Given the description of an element on the screen output the (x, y) to click on. 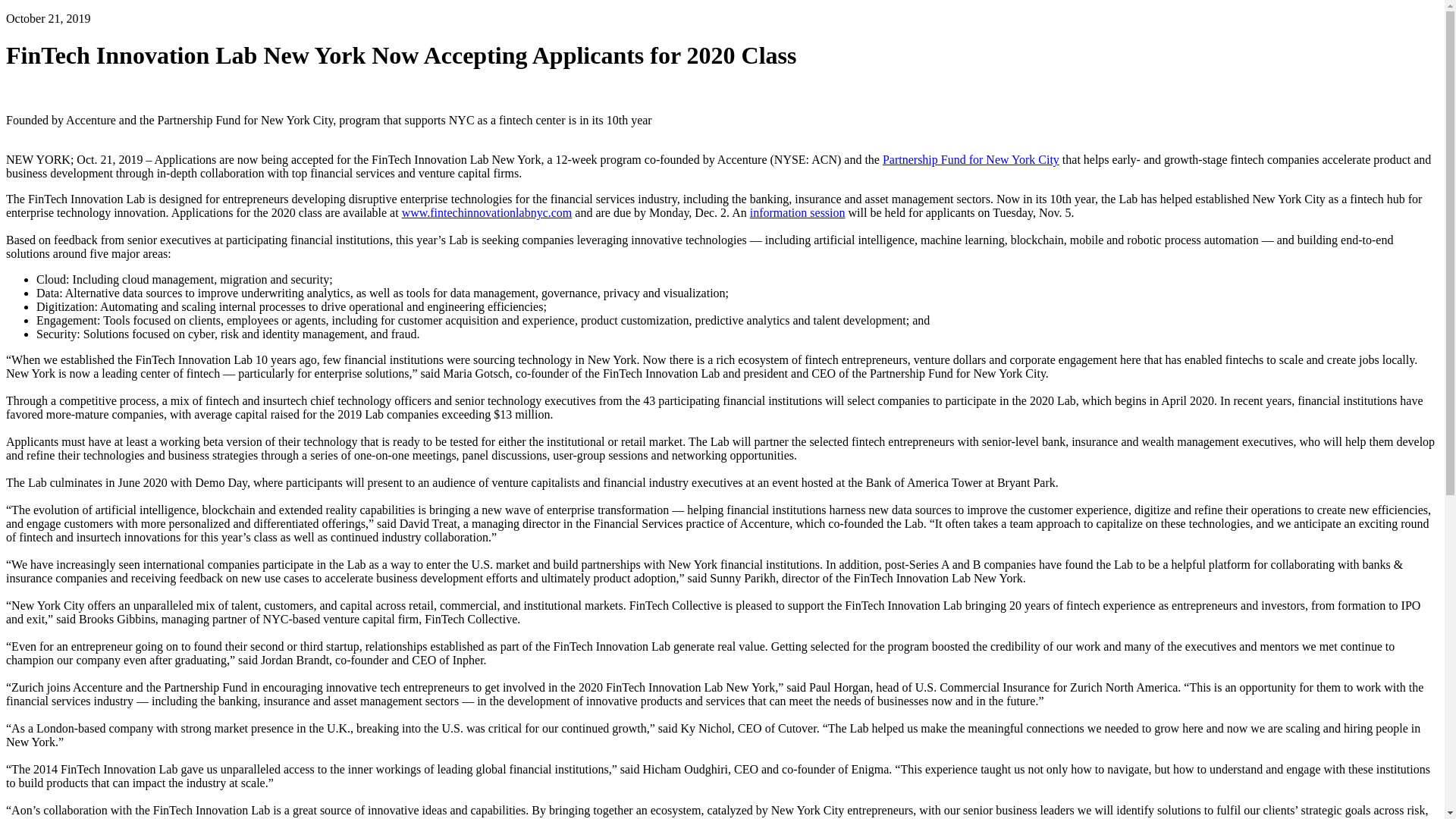
www.fintechinnovationlabnyc.com (486, 212)
information session (797, 212)
Partnership Fund for New York City (970, 159)
